Given the description of an element on the screen output the (x, y) to click on. 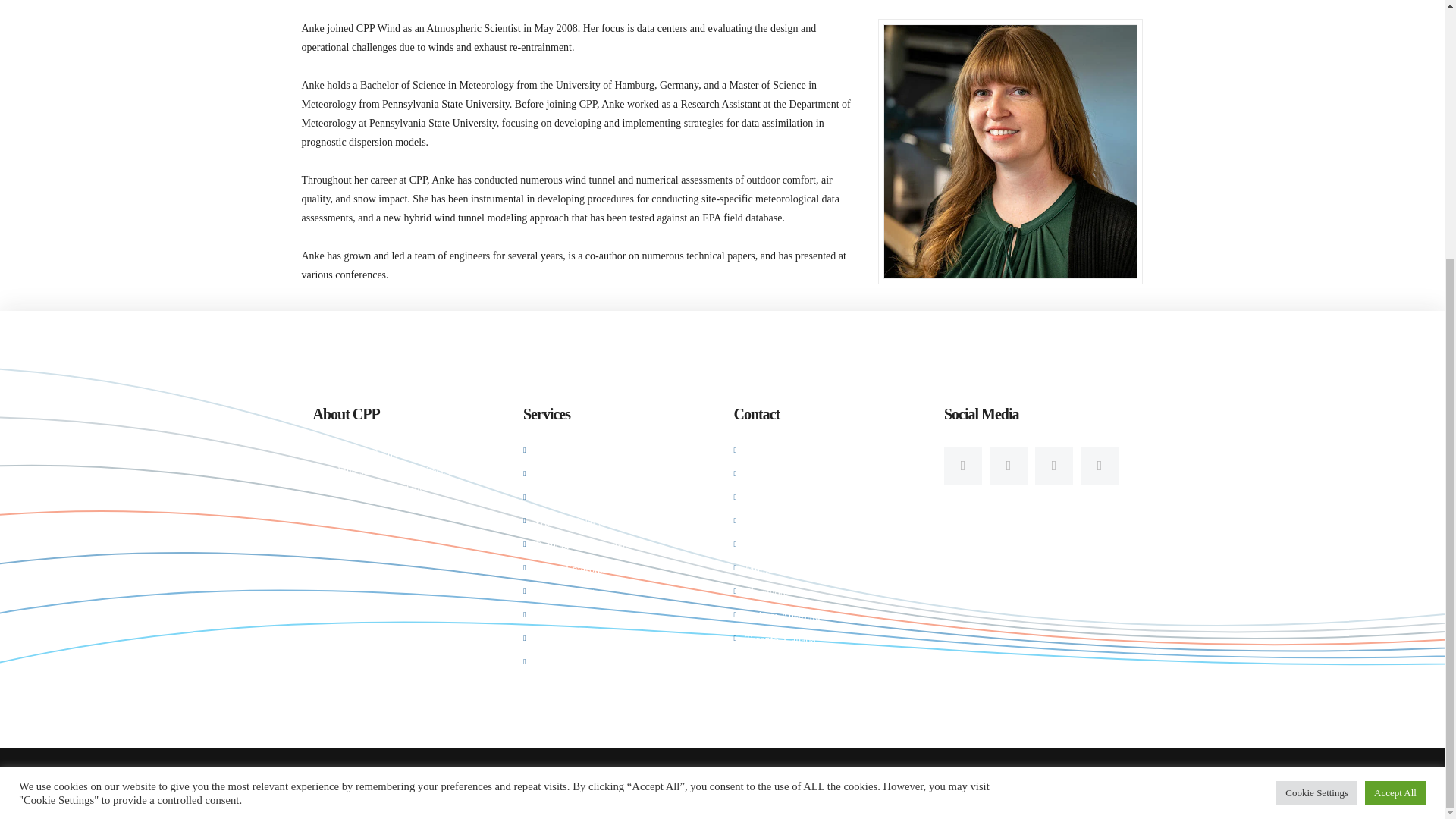
Social item (962, 465)
Social item (1099, 465)
Social item (1054, 465)
Outdoor Environment (580, 545)
Social item (1008, 465)
Air Quality (558, 474)
Air Modeling (563, 498)
Wind on Solar Arrays (580, 521)
Anke Beyer-Lout SQ (1009, 151)
